Given the description of an element on the screen output the (x, y) to click on. 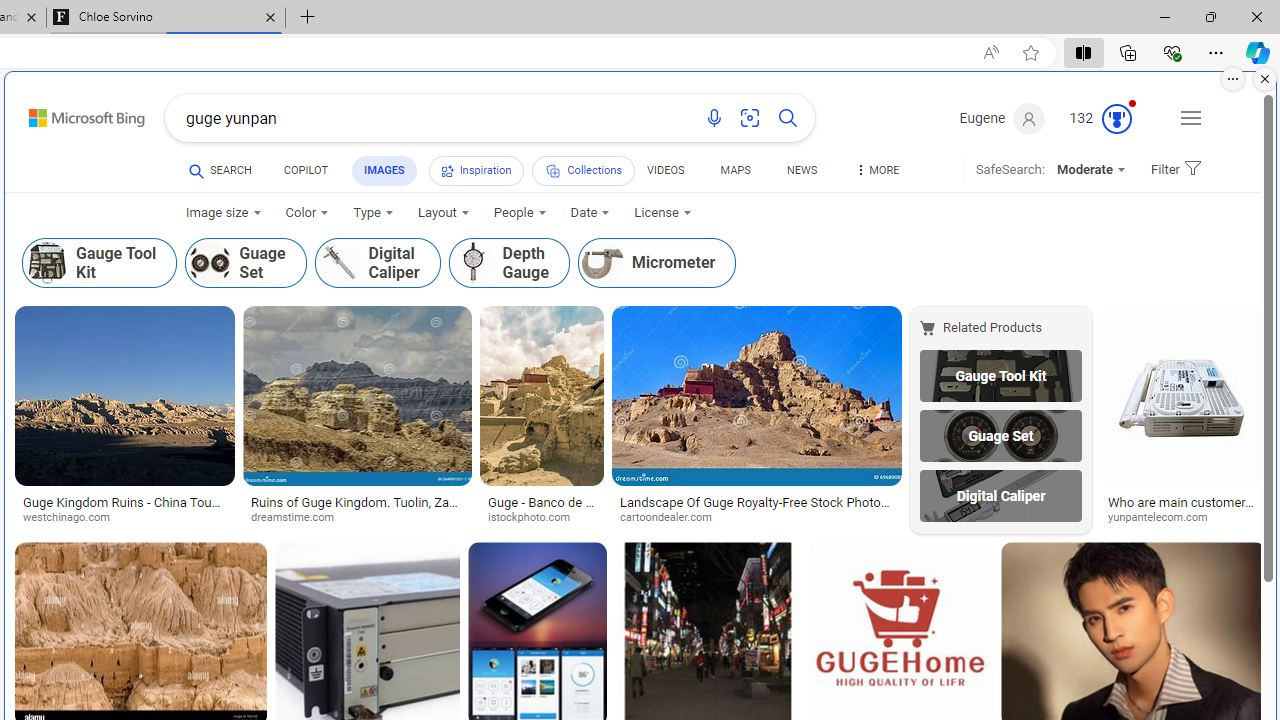
Depth Gauge (509, 263)
Image size (223, 213)
Gauge Tool Kit (1000, 375)
Guage Set (1000, 435)
yunpantelecom.com (1165, 517)
Image result for guge yunpan (1182, 396)
cartoondealer.com (756, 517)
Moderate (1090, 169)
VIDEOS (665, 173)
People (519, 213)
